Given the description of an element on the screen output the (x, y) to click on. 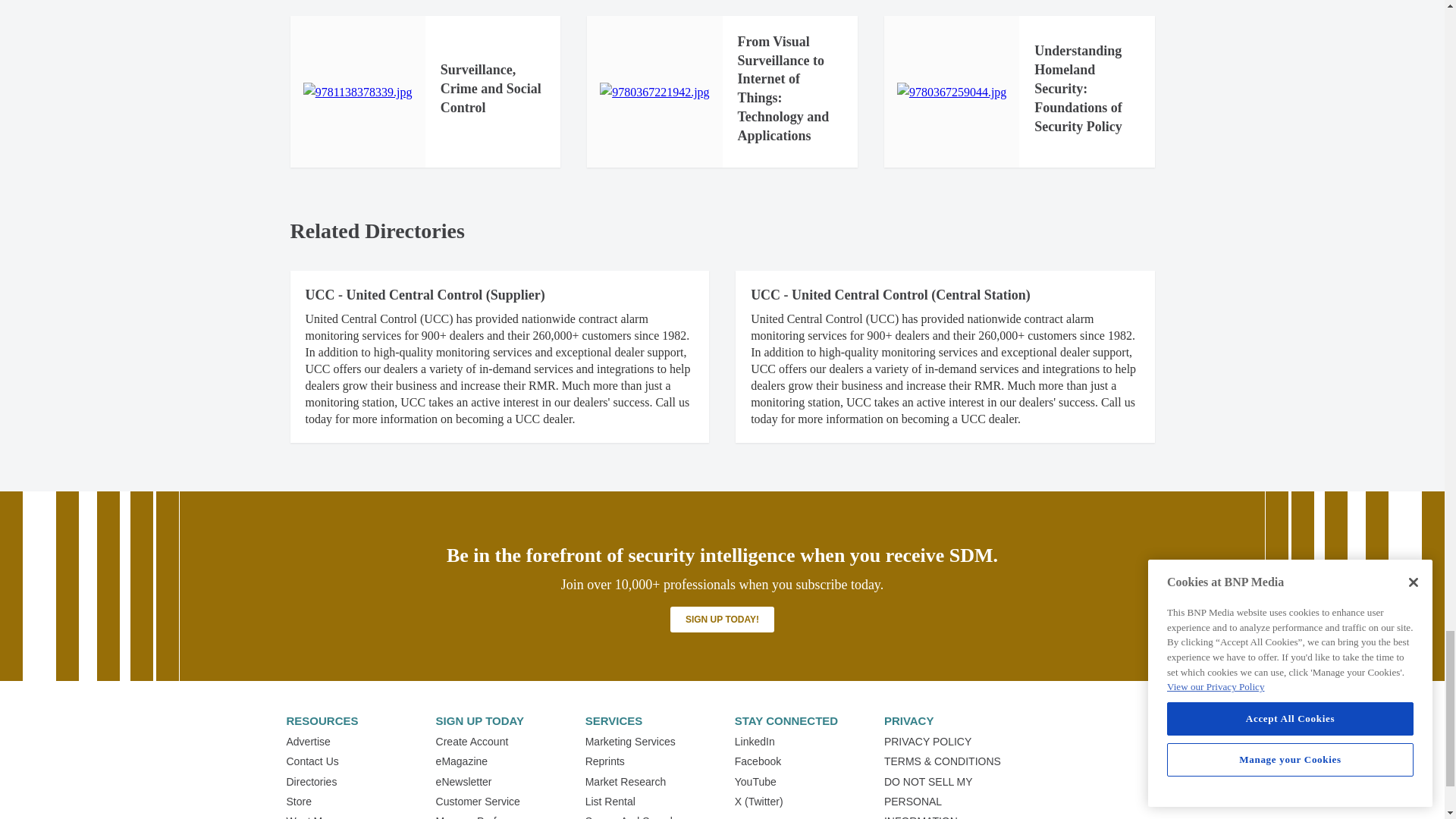
9781138378339.jpg (357, 92)
9780367259044.jpg (951, 92)
9780367221942.jpg (654, 92)
